Given the description of an element on the screen output the (x, y) to click on. 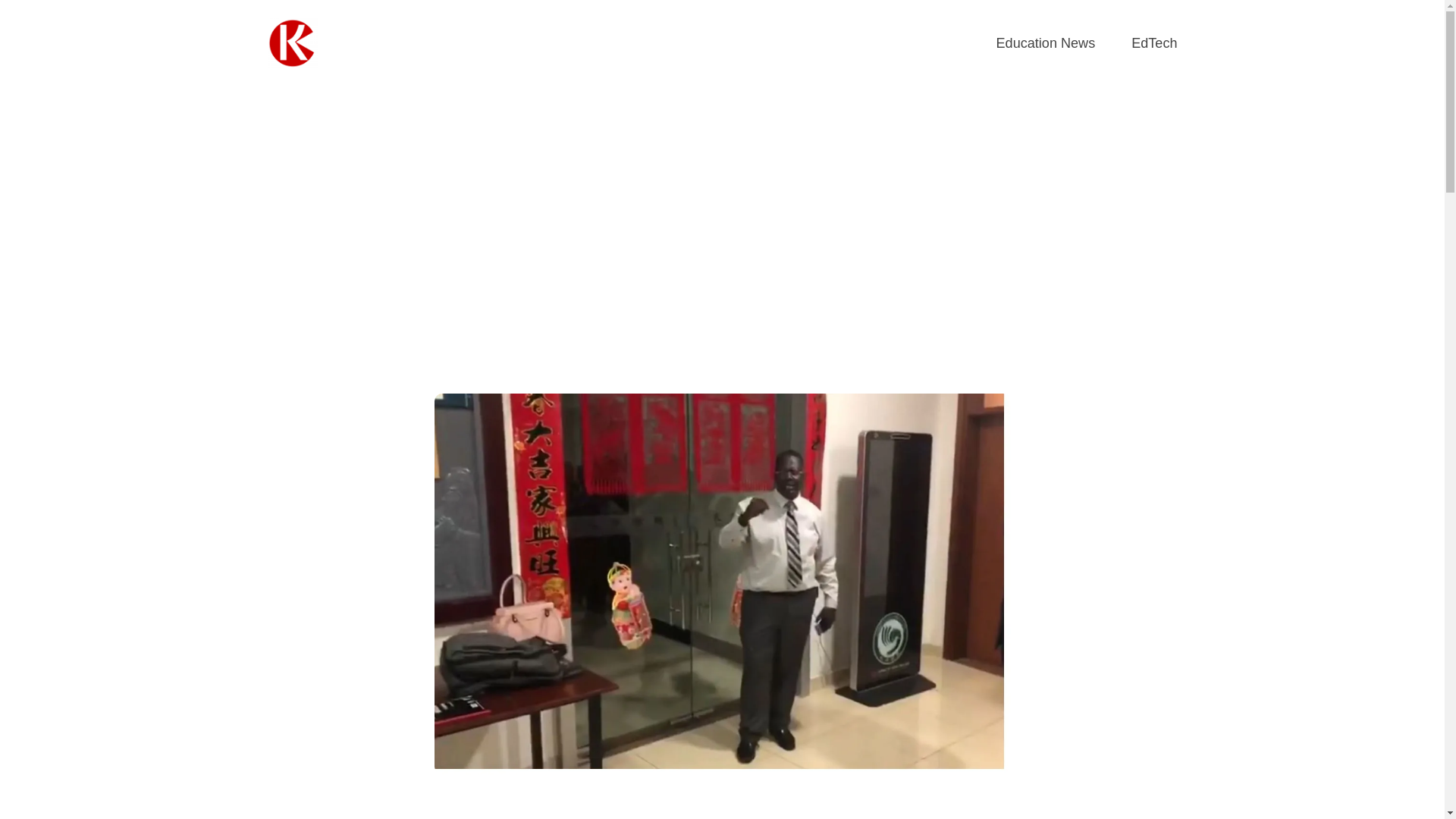
Education News (1045, 43)
EdTech (1153, 43)
